Given the description of an element on the screen output the (x, y) to click on. 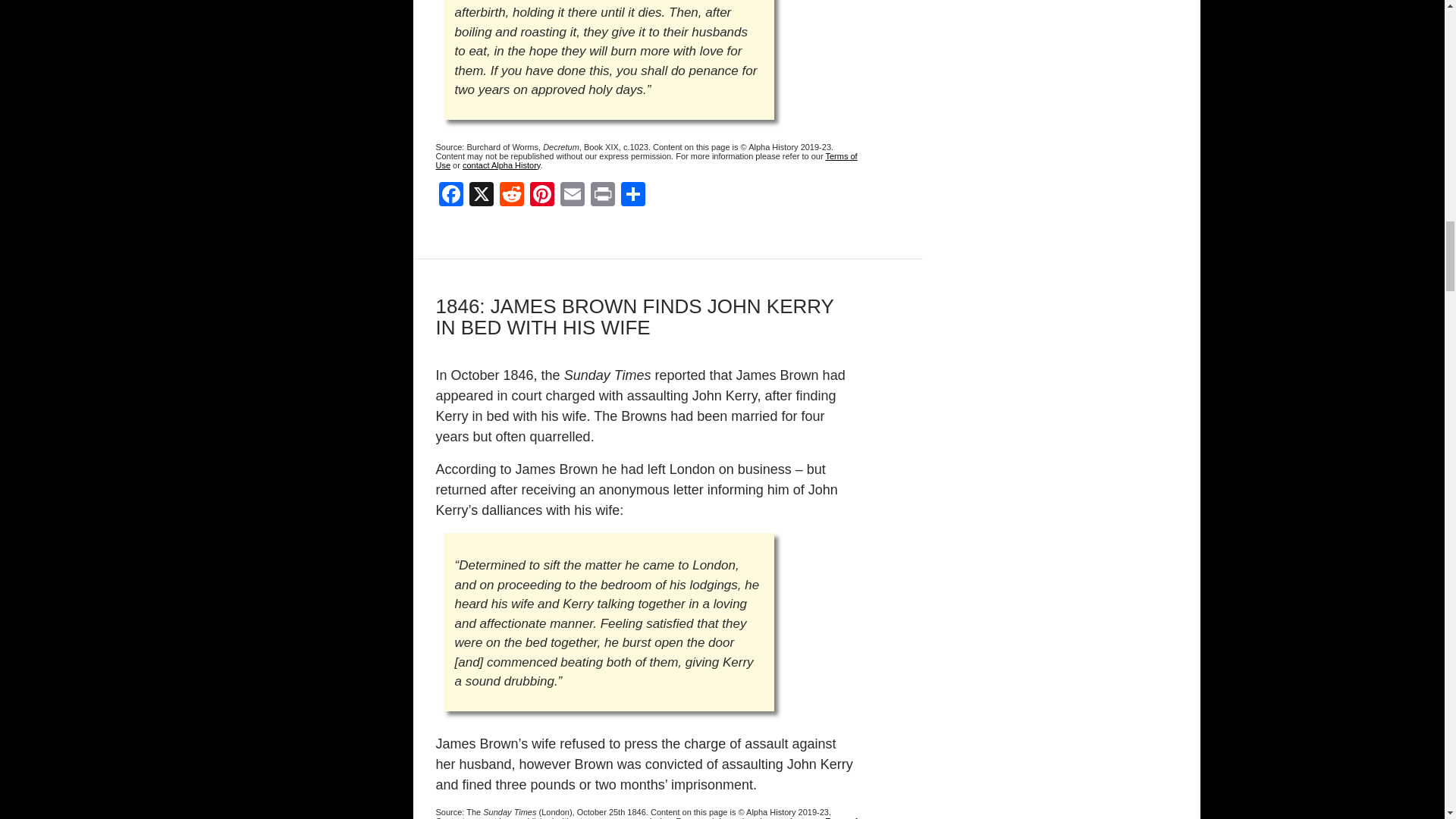
Facebook (450, 195)
X (480, 195)
Reddit (510, 195)
Pinterest (540, 195)
